Given the description of an element on the screen output the (x, y) to click on. 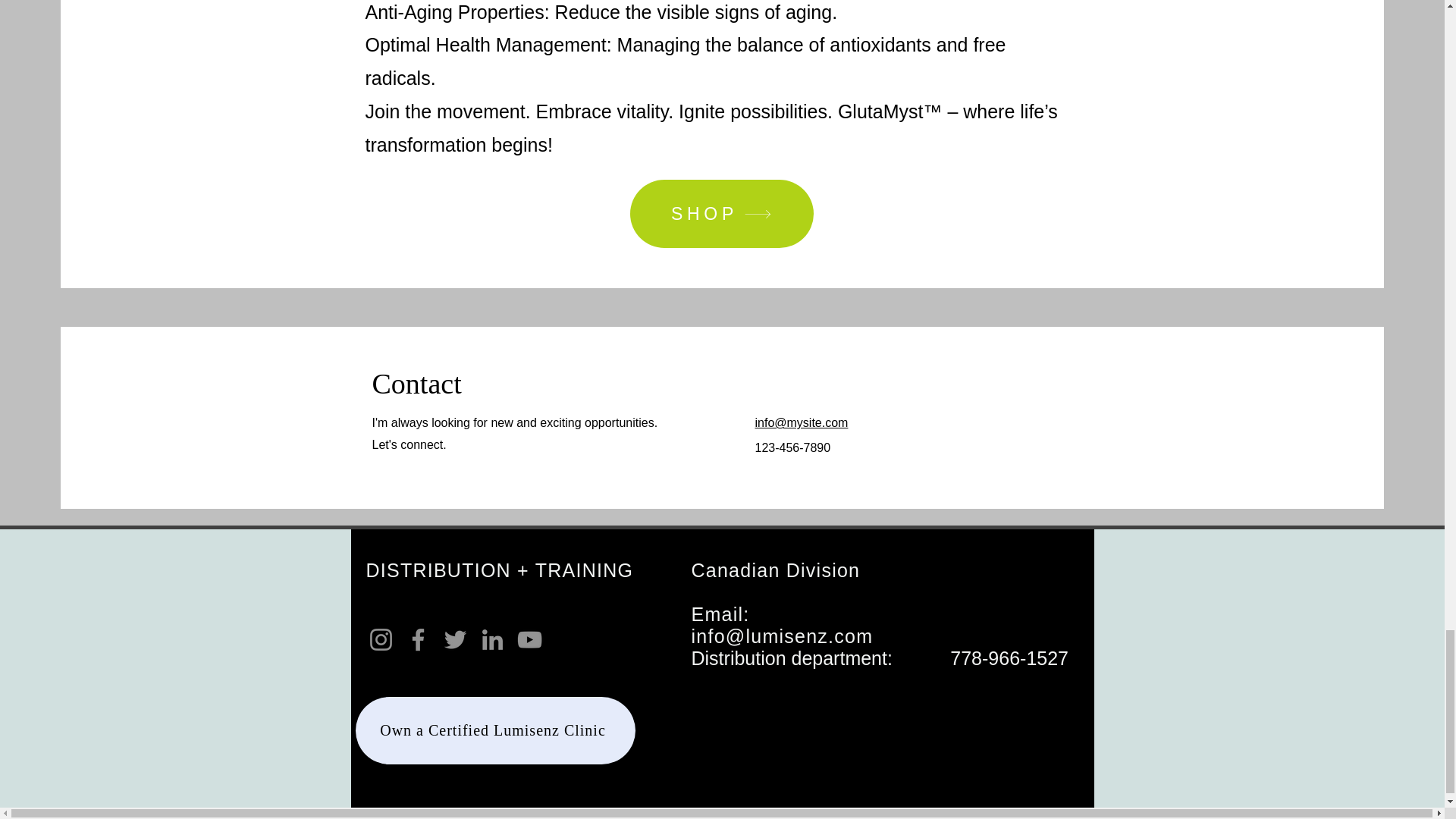
SHOP (720, 213)
